Given the description of an element on the screen output the (x, y) to click on. 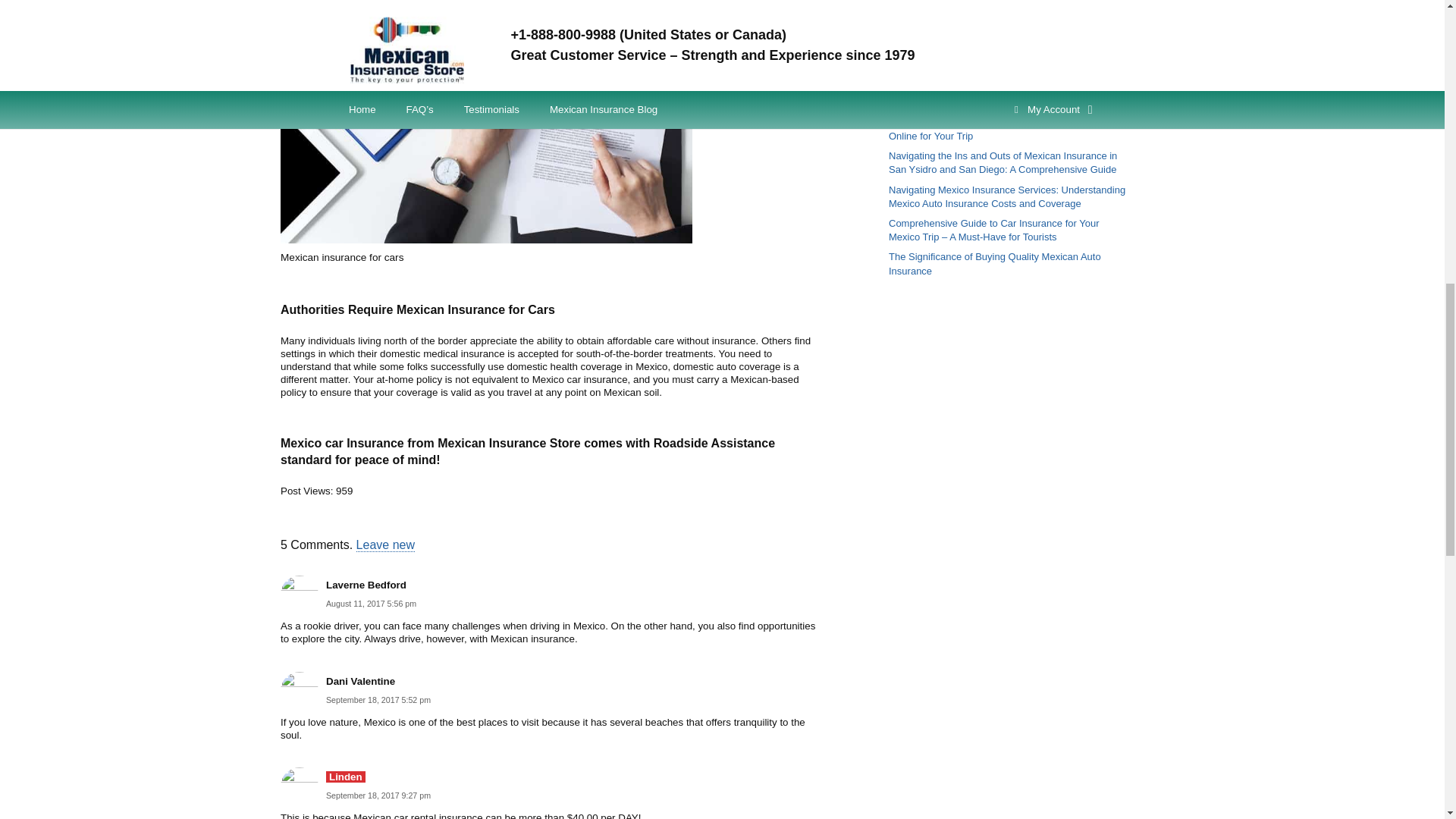
August 11, 2017 5:56 pm (371, 603)
August 11, 2017 5:56 pm (371, 603)
Back to top (1413, 30)
September 18, 2017 5:52 pm (378, 699)
Leave new (385, 545)
September 18, 2017 9:27 pm (378, 795)
